Given the description of an element on the screen output the (x, y) to click on. 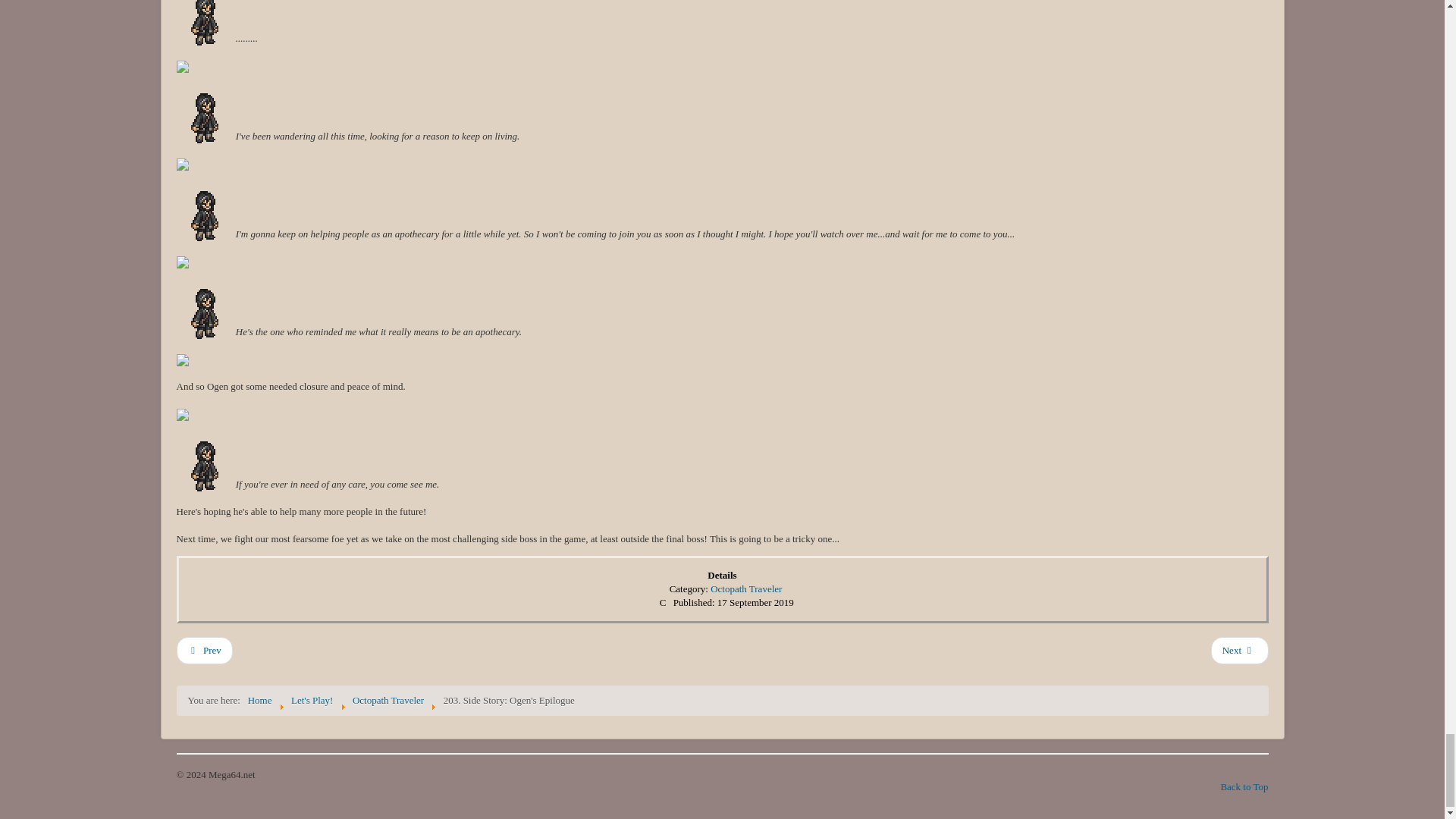
Octopath Traveler (387, 699)
Back to Top (1244, 786)
Octopath Traveler (745, 588)
Let's Play! (312, 699)
Home (259, 699)
Next (1239, 650)
Prev (203, 650)
